Given the description of an element on the screen output the (x, y) to click on. 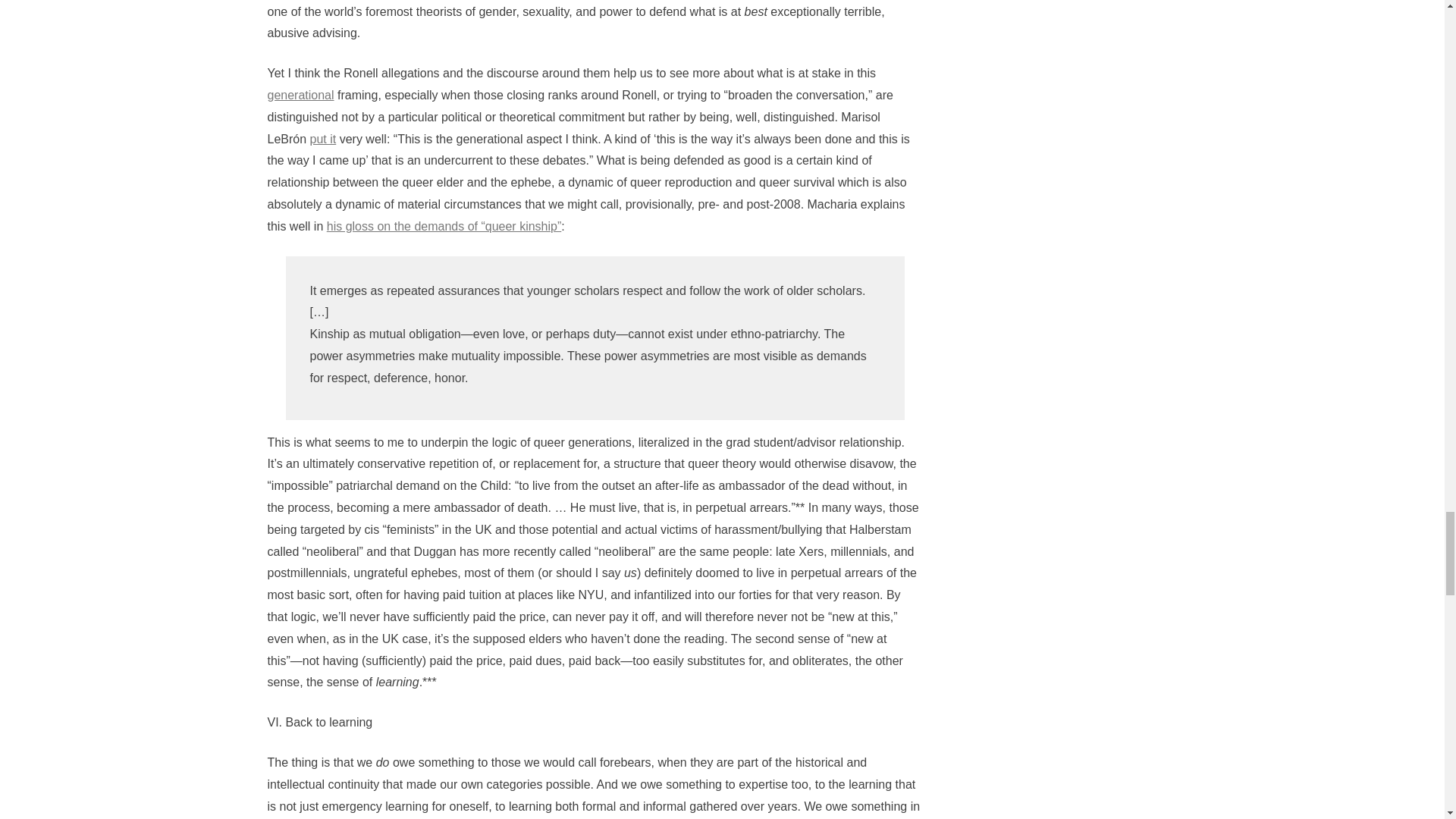
put it (323, 138)
generational (299, 94)
